Given the description of an element on the screen output the (x, y) to click on. 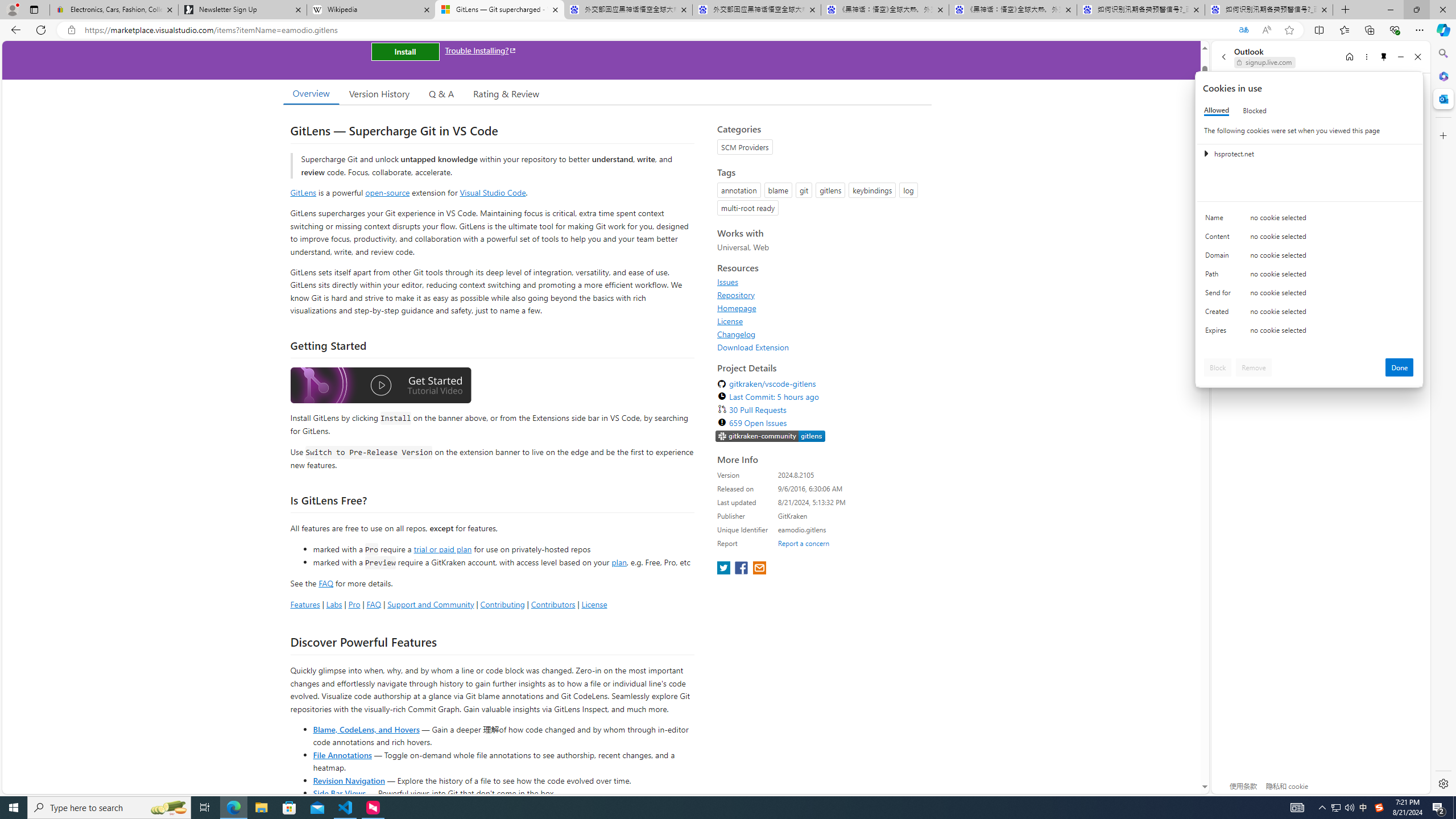
Block (1217, 367)
Class: c0153 c0157 c0154 (1309, 220)
Path (1219, 276)
no cookie selected (1331, 332)
Send for (1219, 295)
Content (1219, 239)
Domain (1219, 257)
Class: c0153 c0157 (1309, 332)
Created (1219, 313)
Remove (1253, 367)
Expires (1219, 332)
Done (1399, 367)
Blocked (1255, 110)
Allowed (1216, 110)
Name (1219, 220)
